Given the description of an element on the screen output the (x, y) to click on. 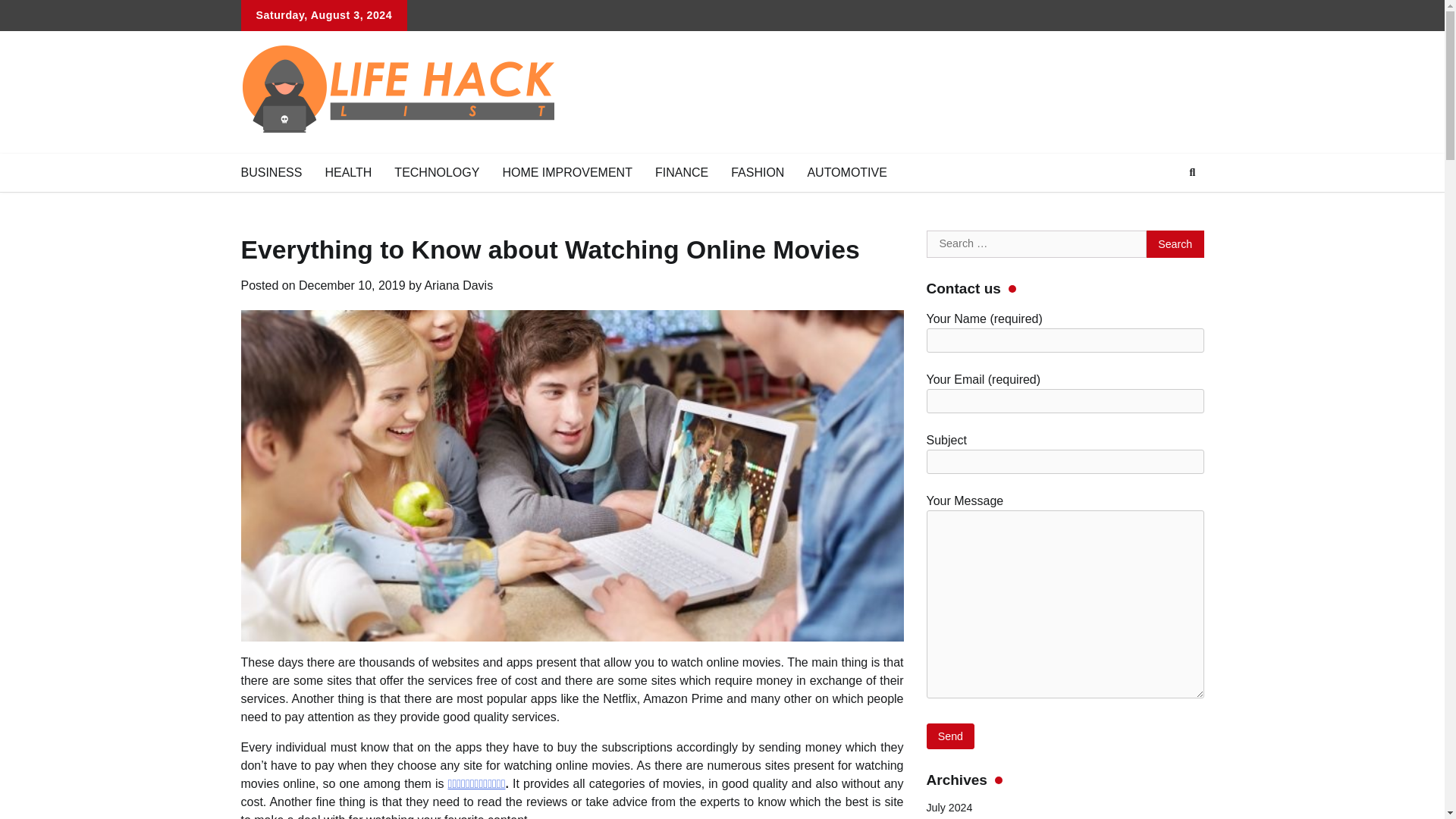
Send (950, 735)
HEALTH (347, 172)
Search (1175, 243)
Send (950, 735)
AUTOMOTIVE (846, 172)
December 10, 2019 (352, 285)
BUSINESS (270, 172)
Search (1175, 243)
Search (1175, 243)
FINANCE (681, 172)
Search (1164, 207)
Ariana Davis (458, 285)
HOME IMPROVEMENT (566, 172)
FASHION (756, 172)
Search (1192, 172)
